Given the description of an element on the screen output the (x, y) to click on. 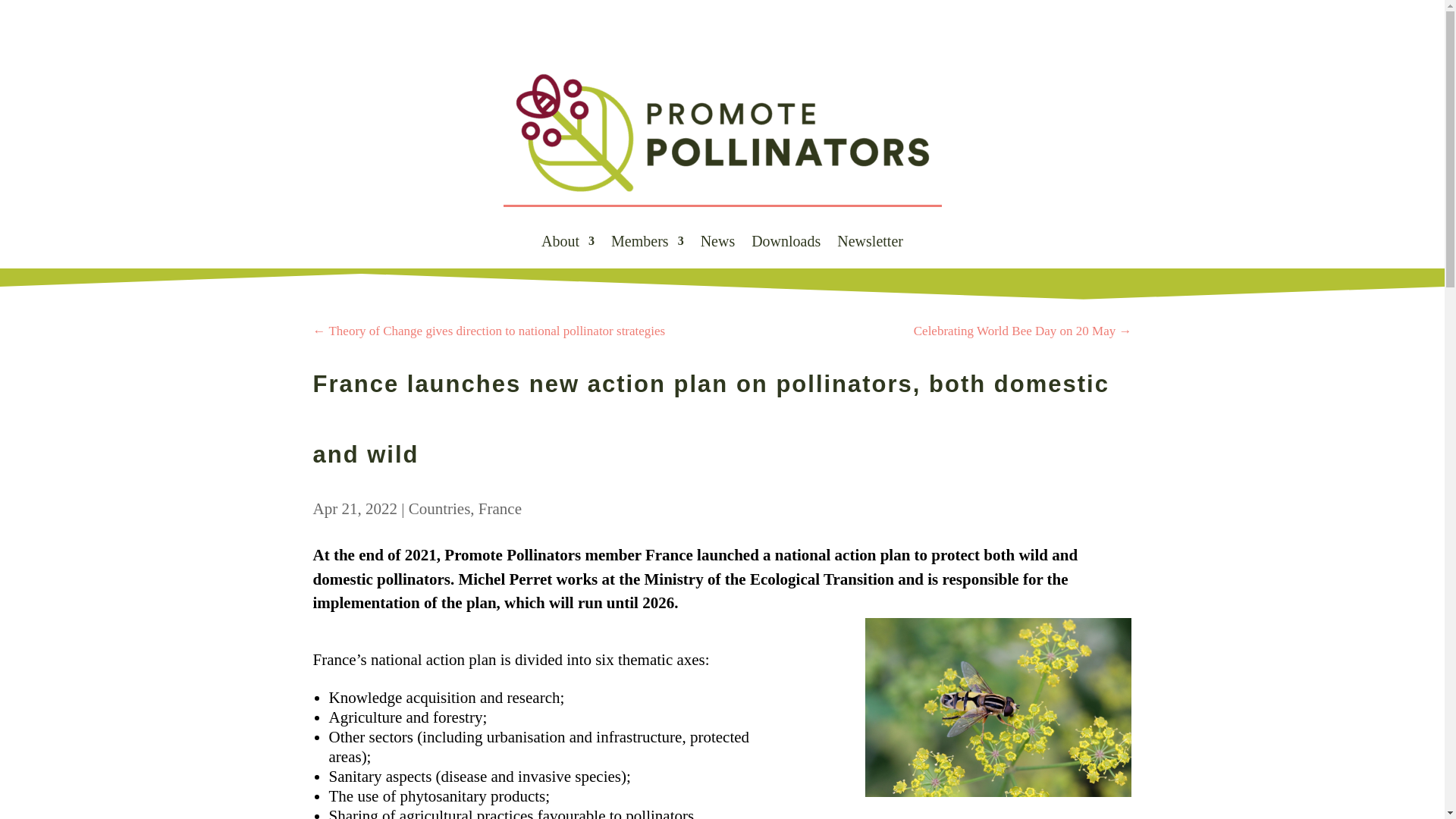
Downloads (786, 251)
Logo header (722, 132)
Newsletter (869, 251)
France1 (997, 706)
France (500, 507)
About (567, 251)
Members (647, 251)
Countries (439, 507)
News (717, 251)
